Given the description of an element on the screen output the (x, y) to click on. 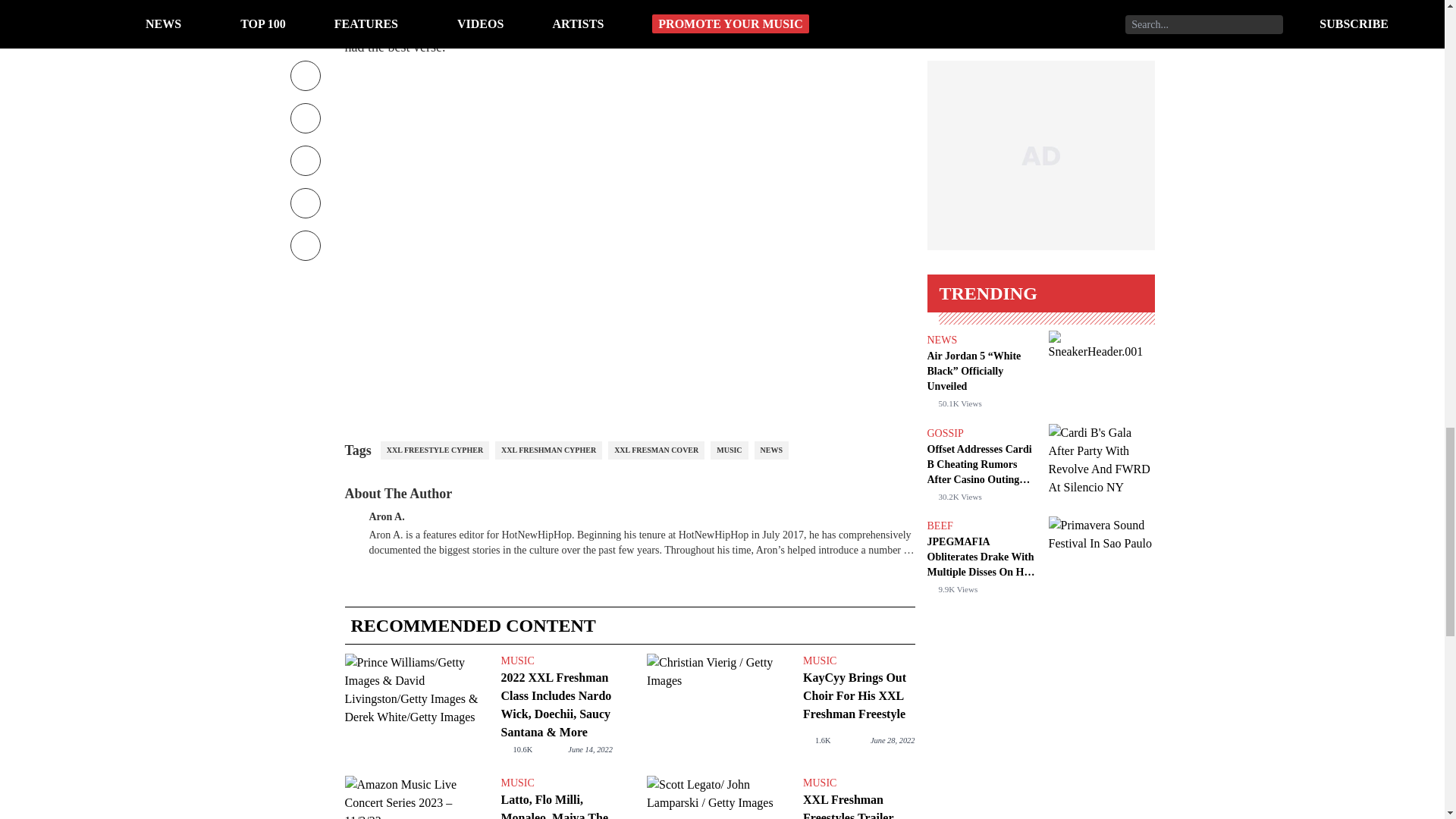
NEWS (771, 450)
June 28, 2022 (892, 740)
MUSIC (858, 783)
KayCyy Brings Out Choir For His XXL Freshman Freestyle (718, 706)
MUSIC (555, 783)
KayCyy Brings Out Choir For His XXL Freshman Freestyle (858, 696)
June 14, 2022 (589, 749)
XXL FRESMAN COVER (656, 450)
MUSIC (858, 661)
MUSIC (555, 661)
MUSIC (729, 450)
XXL FREESTYLE CYPHER (434, 450)
